Given the description of an element on the screen output the (x, y) to click on. 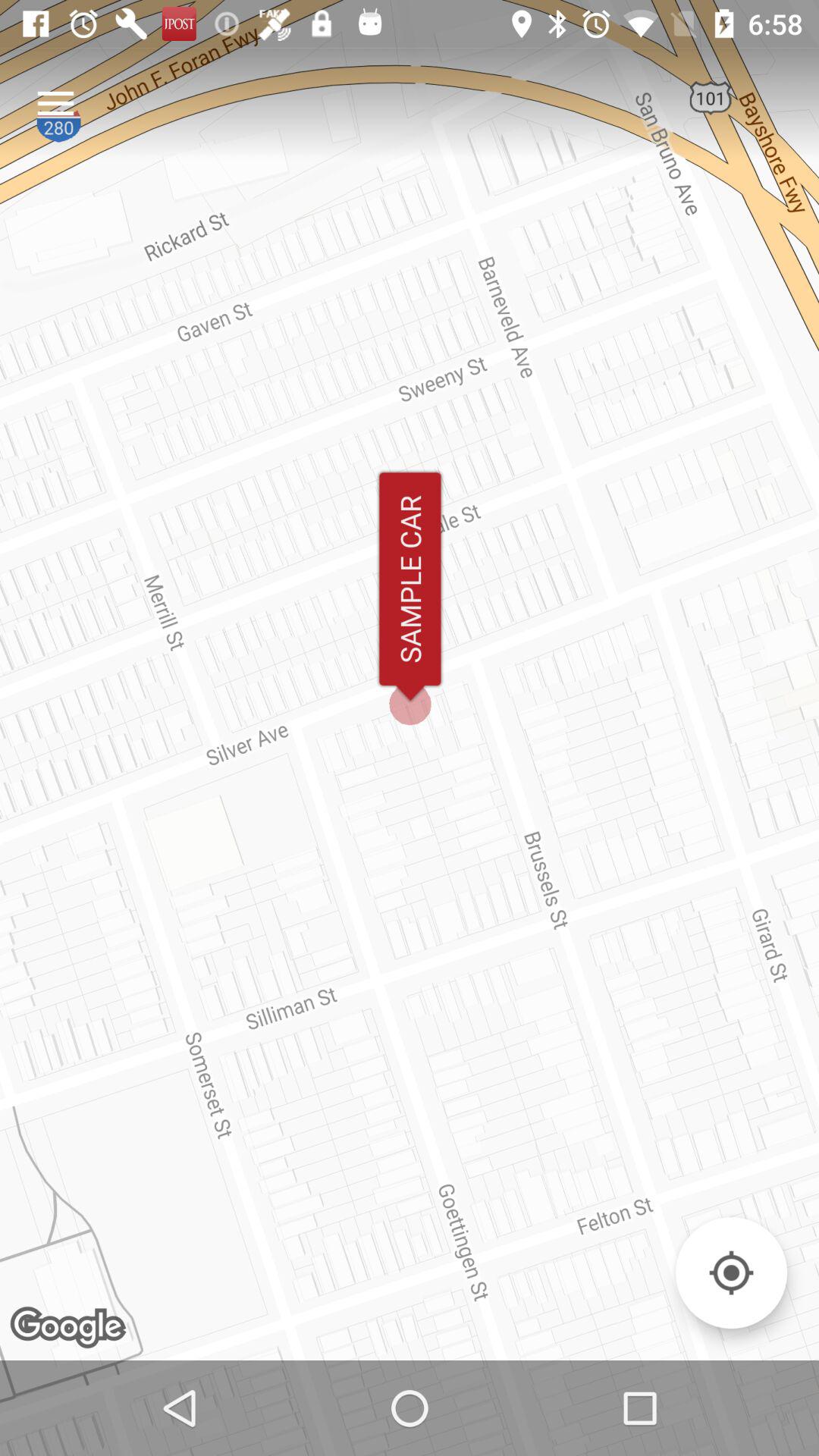
go to current location (731, 1272)
